Given the description of an element on the screen output the (x, y) to click on. 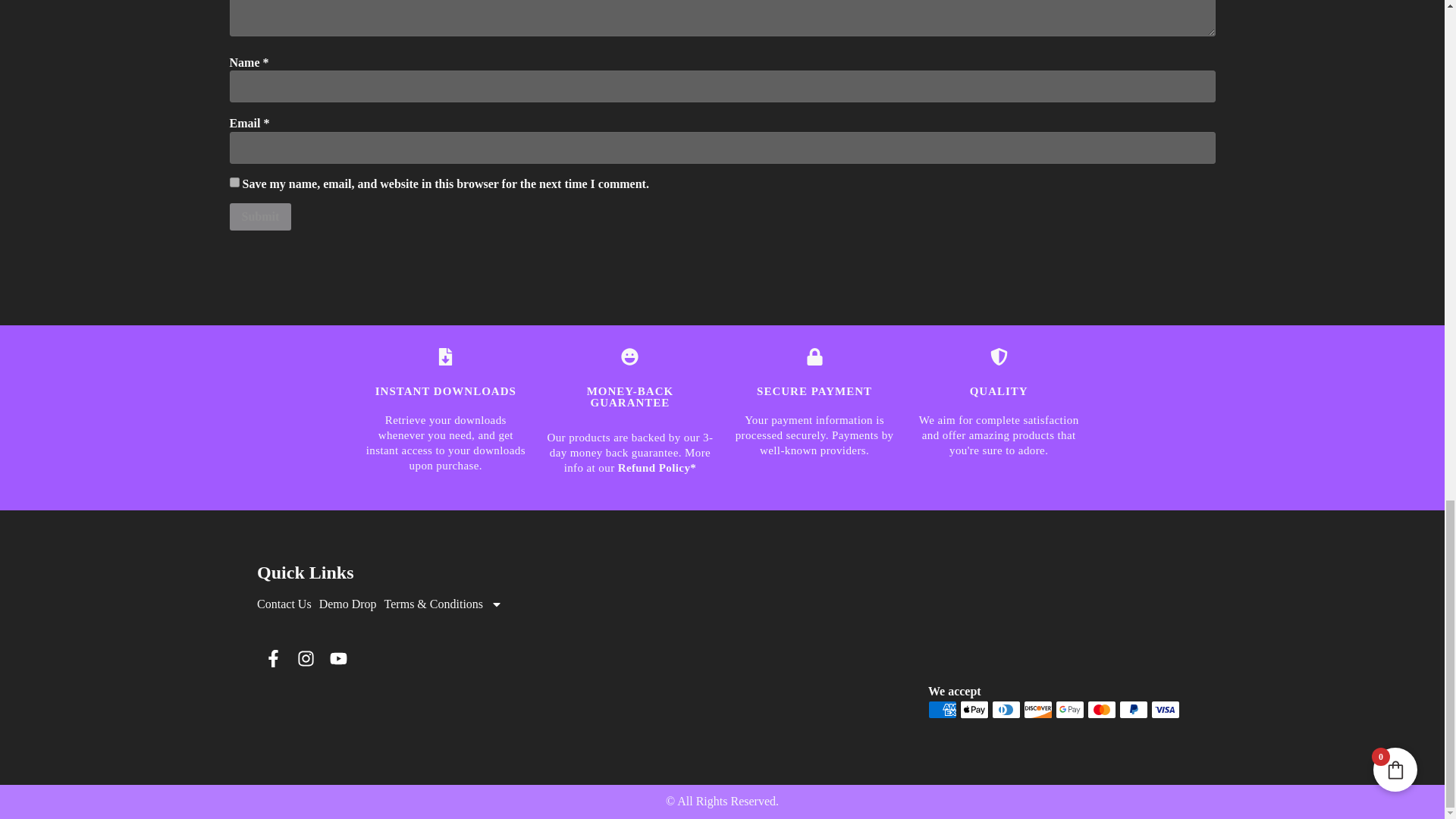
Mastercard (1101, 710)
Apple Pay (973, 710)
Discover (1037, 710)
yes (233, 182)
Visa (1165, 710)
Diners Club (1005, 710)
PayPal (1133, 710)
American Express (942, 710)
Submit (259, 216)
Google Pay (1069, 710)
